Given the description of an element on the screen output the (x, y) to click on. 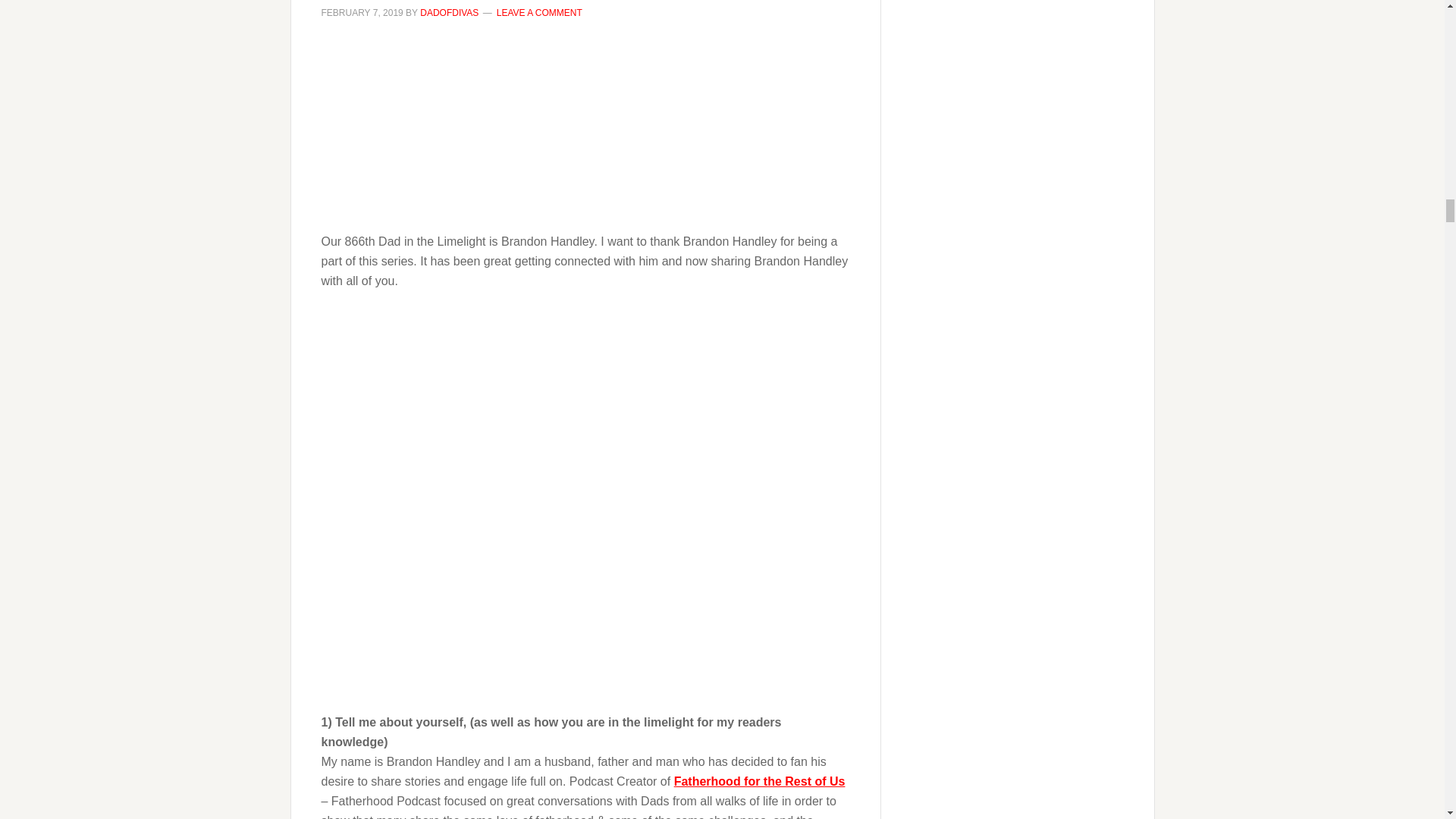
Dads in the Limelight Series (585, 127)
